Given the description of an element on the screen output the (x, y) to click on. 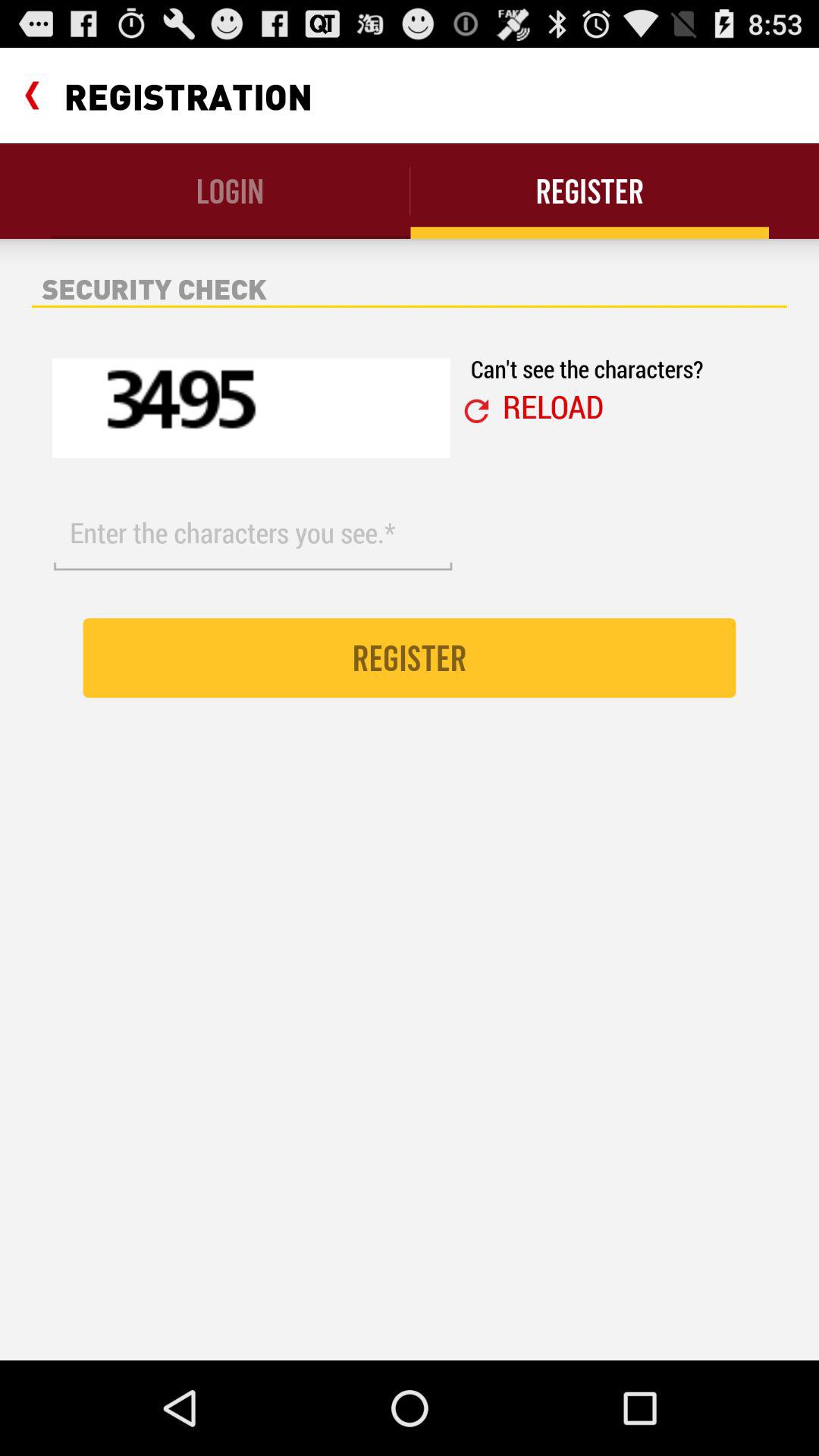
open icon below can t see (553, 406)
